Given the description of an element on the screen output the (x, y) to click on. 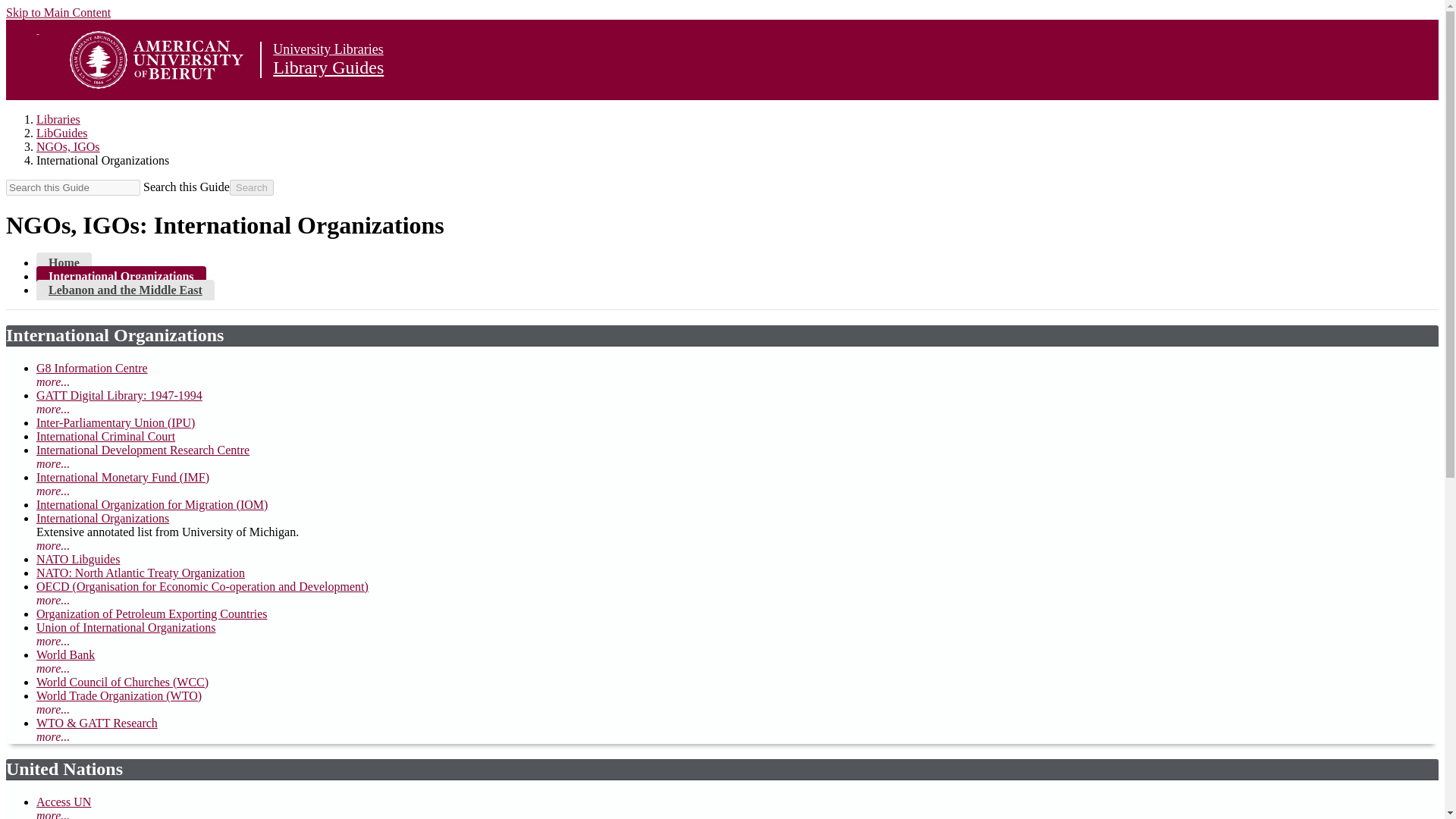
International Criminal Court (105, 436)
NGOs, IGOs (68, 146)
Library Guides (328, 66)
G8 Information Centre (92, 367)
NATO: North Atlantic Treaty Organization (140, 572)
NGOs and Think Tanks (125, 290)
Search (251, 187)
NGOs and Think Tanks (63, 262)
International Organizations (102, 517)
International Development Research Centre (142, 449)
Libraries (58, 119)
International Organizations (121, 276)
Lebanon and the Middle East (125, 290)
Organization of Petroleum Exporting Countries (151, 613)
